Given the description of an element on the screen output the (x, y) to click on. 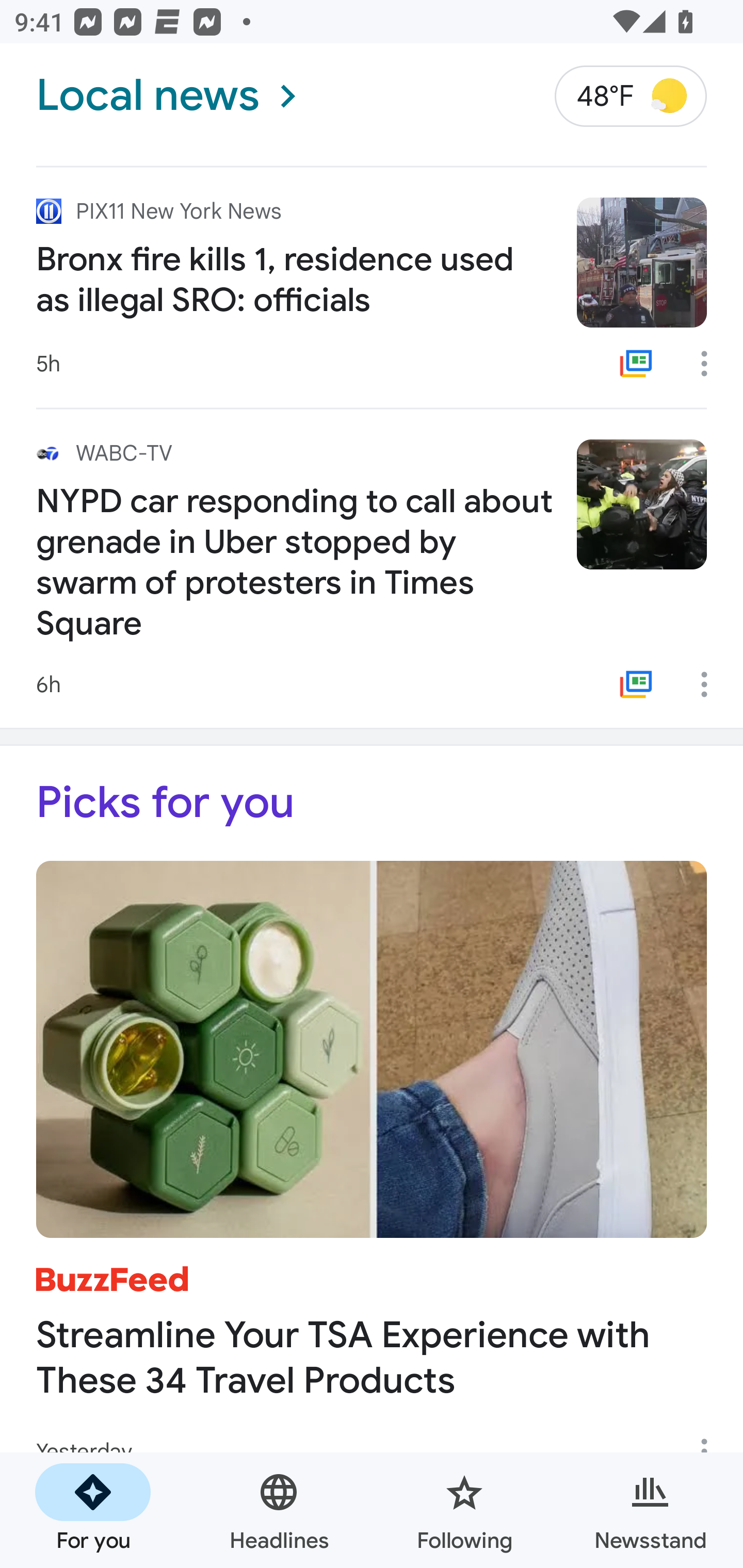
More options (711, 363)
More options (711, 684)
For you (92, 1509)
Headlines (278, 1509)
Following (464, 1509)
Newsstand (650, 1509)
